Given the description of an element on the screen output the (x, y) to click on. 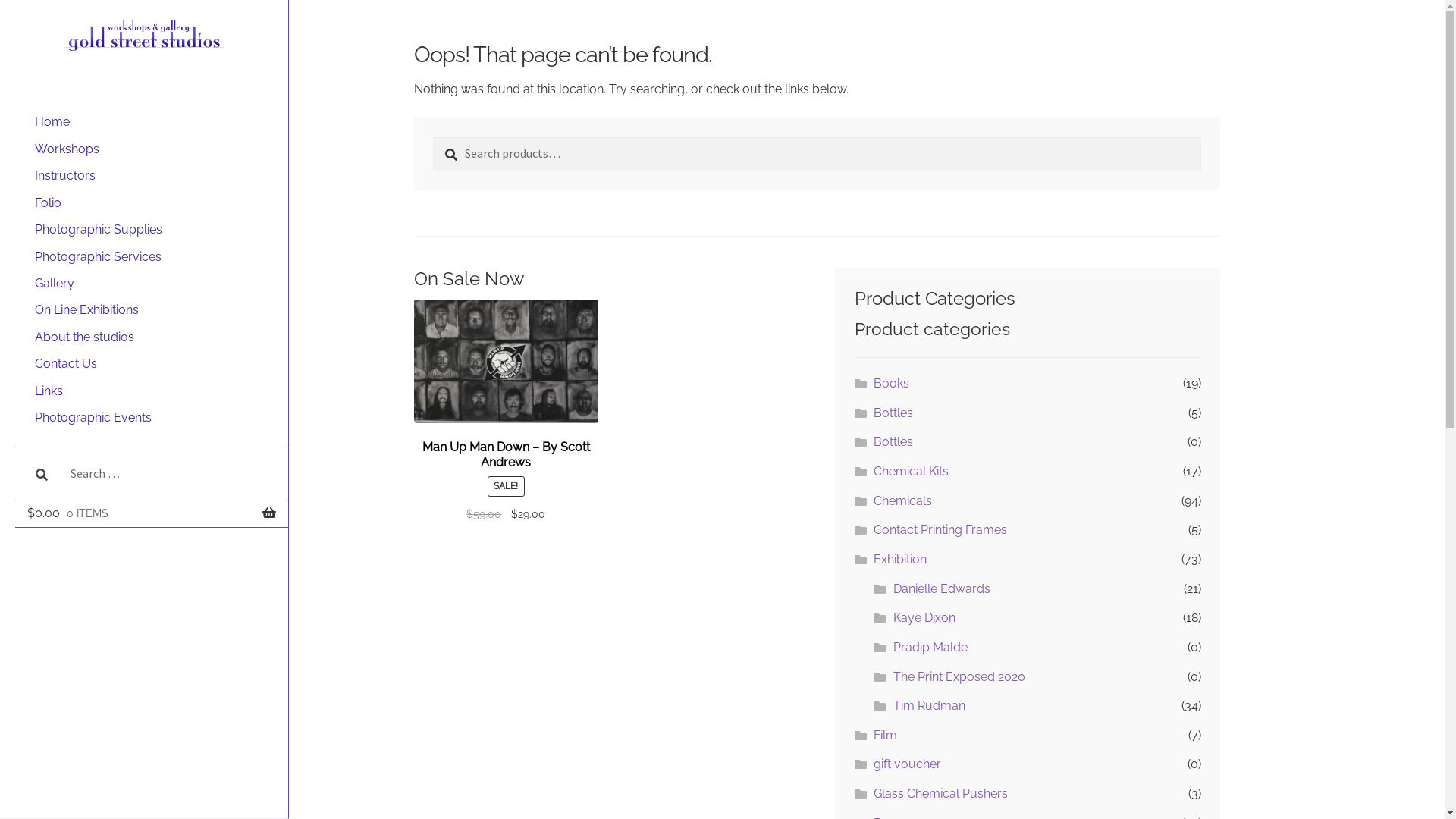
Film Element type: text (885, 735)
Danielle Edwards Element type: text (941, 588)
$0.00 0 ITEMS Element type: text (151, 515)
Tim Rudman Element type: text (929, 705)
On Line Exhibitions Element type: text (155, 310)
Contact Printing Frames Element type: text (940, 529)
Contact Us Element type: text (155, 364)
Chemicals Element type: text (902, 500)
gift voucher Element type: text (907, 763)
Photographic Events Element type: text (155, 417)
Search Element type: text (120, 14)
Pradip Malde Element type: text (930, 647)
Chemical Kits Element type: text (910, 471)
Exhibition Element type: text (899, 559)
About the studios Element type: text (155, 336)
Folio Element type: text (155, 202)
The Print Exposed 2020 Element type: text (959, 676)
Home Element type: text (155, 121)
Bottles Element type: text (893, 412)
Photographic Services Element type: text (155, 256)
Kaye Dixon Element type: text (924, 617)
Books Element type: text (891, 383)
Gallery Element type: text (155, 282)
Bottles Element type: text (893, 441)
Glass Chemical Pushers Element type: text (940, 793)
Instructors Element type: text (155, 175)
Search Element type: text (432, 136)
Photographic Supplies Element type: text (155, 229)
Workshops Element type: text (155, 148)
Links Element type: text (155, 390)
